Given the description of an element on the screen output the (x, y) to click on. 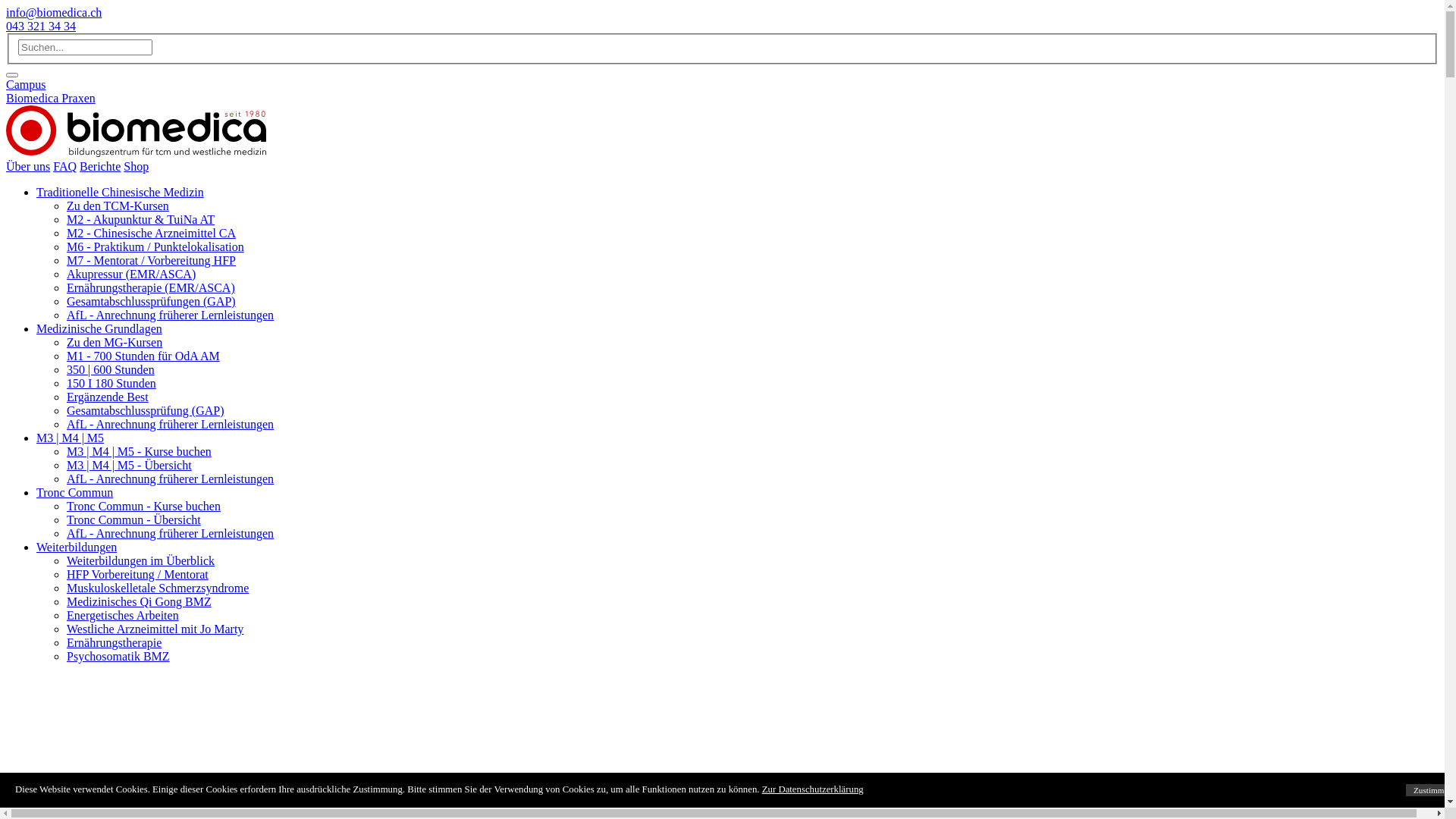
M3 | M4 | M5 Element type: text (69, 437)
Medizinische Grundlagen Element type: text (99, 328)
Zu den MG-Kursen Element type: text (114, 341)
150 I 180 Stunden Element type: text (111, 382)
HFP Vorbereitung / Mentorat Element type: text (137, 573)
M2 - Akupunktur & TuiNa AT Element type: text (140, 219)
Zu den TCM-Kursen Element type: text (117, 205)
M6 - Praktikum / Punktelokalisation Element type: text (155, 246)
Muskuloskelletale Schmerzsyndrome Element type: text (157, 587)
Biomedica Element type: hover (136, 130)
Biomedica Praxen Element type: text (50, 97)
Berichte Element type: text (99, 166)
FAQ Element type: text (64, 166)
Psychosomatik BMZ Element type: text (117, 655)
Medizinisches Qi Gong BMZ Element type: text (138, 601)
M2 - Chinesische Arzneimittel CA Element type: text (150, 232)
Tronc Commun Element type: text (74, 492)
Shop Element type: text (135, 166)
M3 | M4 | M5 - Kurse buchen Element type: text (138, 451)
350 | 600 Stunden Element type: text (110, 369)
Energetisches Arbeiten Element type: text (122, 614)
info@biomedica.ch Element type: text (53, 12)
043 321 34 34 Element type: text (40, 25)
M7 - Mentorat / Vorbereitung HFP Element type: text (150, 260)
Tronc Commun - Kurse buchen Element type: text (143, 505)
Traditionelle Chinesische Medizin Element type: text (119, 191)
Campus Element type: text (25, 84)
Weiterbildungen Element type: text (76, 546)
Westliche Arzneimittel mit Jo Marty Element type: text (154, 628)
Akupressur (EMR/ASCA) Element type: text (130, 273)
